Given the description of an element on the screen output the (x, y) to click on. 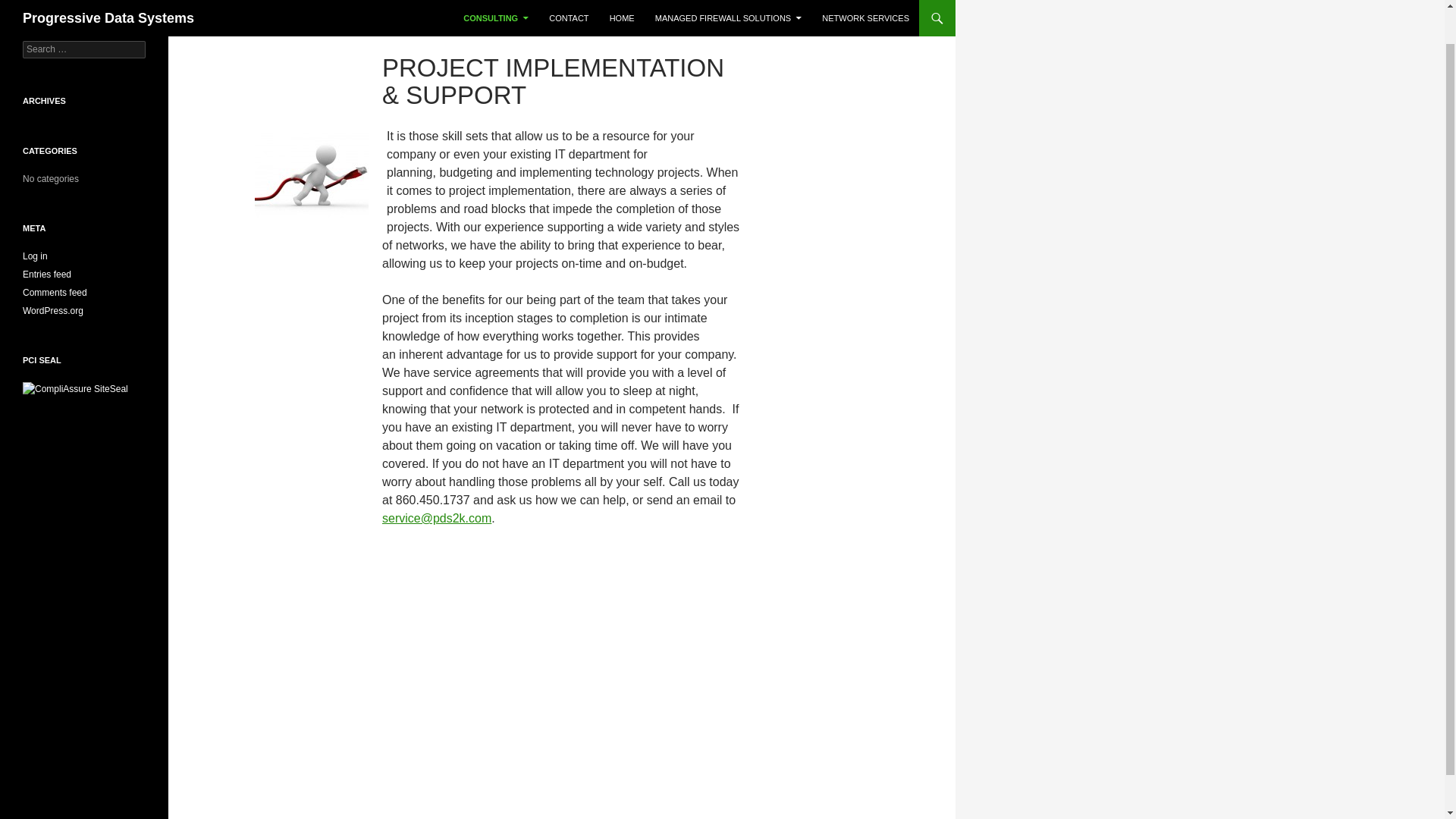
Log in (35, 255)
WordPress.org (52, 310)
Comments feed (55, 292)
Entries feed (47, 274)
